Given the description of an element on the screen output the (x, y) to click on. 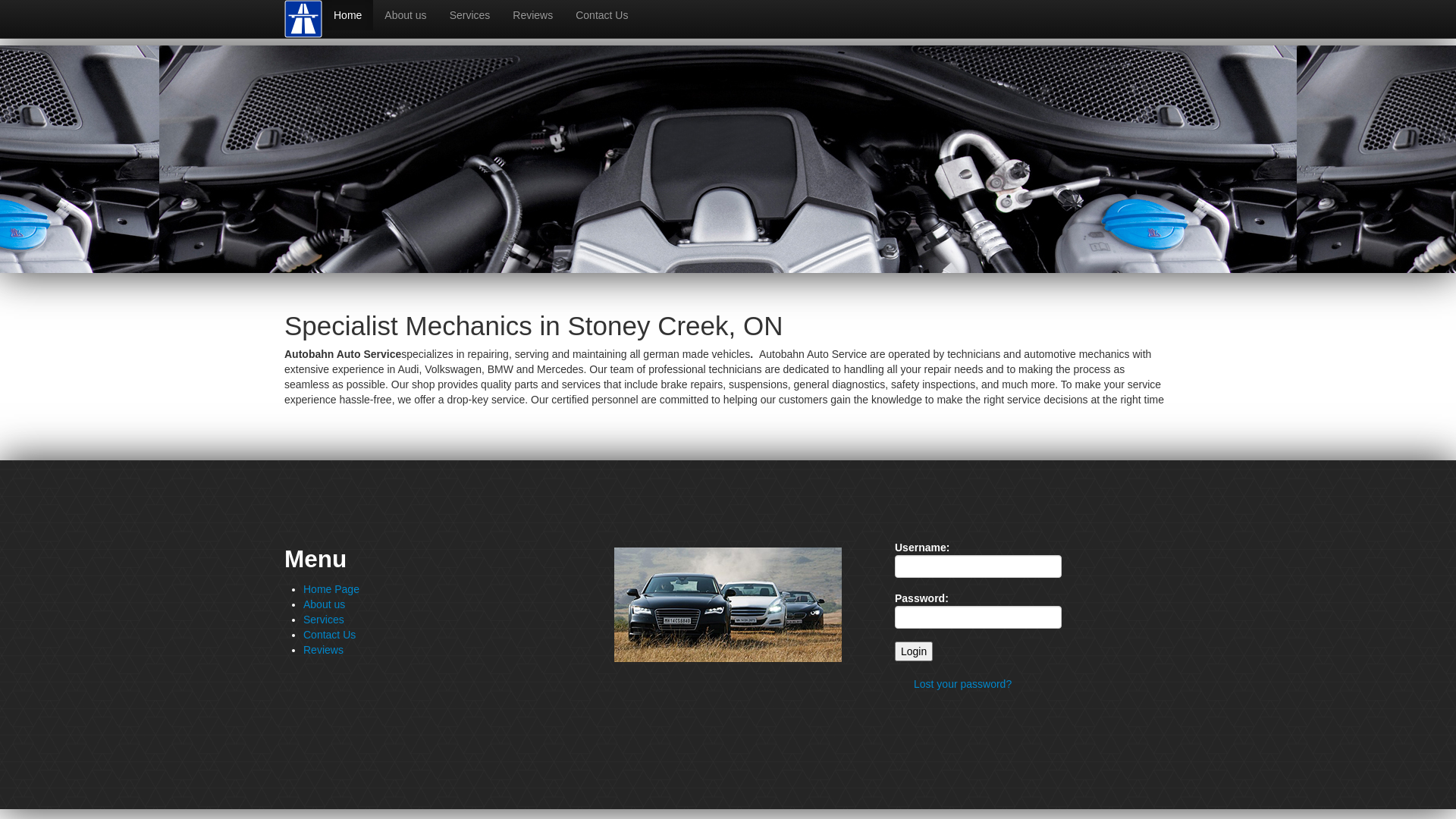
Autobahn Auto Service German Specialists Element type: hover (303, 18)
Services Element type: text (323, 619)
Reviews Element type: text (323, 649)
Home Element type: text (347, 15)
About us Element type: text (405, 15)
Lost your password? Element type: text (962, 683)
Contact Us Element type: text (329, 634)
Services Element type: text (470, 15)
Home Page Element type: text (331, 589)
Reviews Element type: text (532, 15)
Login Element type: text (913, 651)
About us Element type: text (324, 604)
Contact Us Element type: text (601, 15)
